Given the description of an element on the screen output the (x, y) to click on. 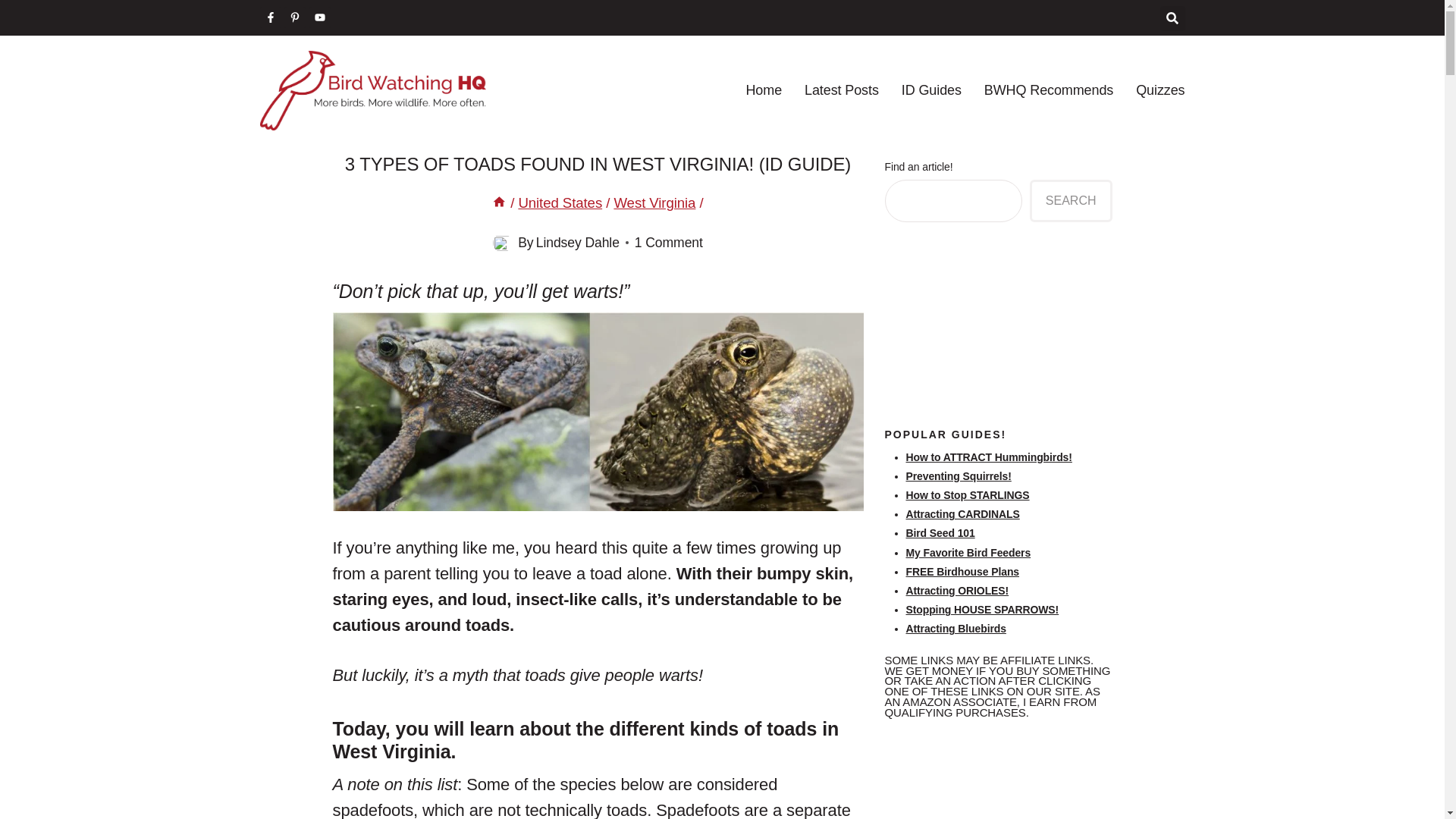
How to Stop STARLINGS (967, 494)
BWHQ Recommends (1048, 89)
How to ATTRACT Hummingbirds! (988, 457)
Quizzes (1160, 89)
Home (499, 202)
Preventing Squirrels! (957, 476)
United States (560, 202)
Lindsey Dahle (577, 242)
ID Guides (930, 89)
1 Comment (668, 242)
